Given the description of an element on the screen output the (x, y) to click on. 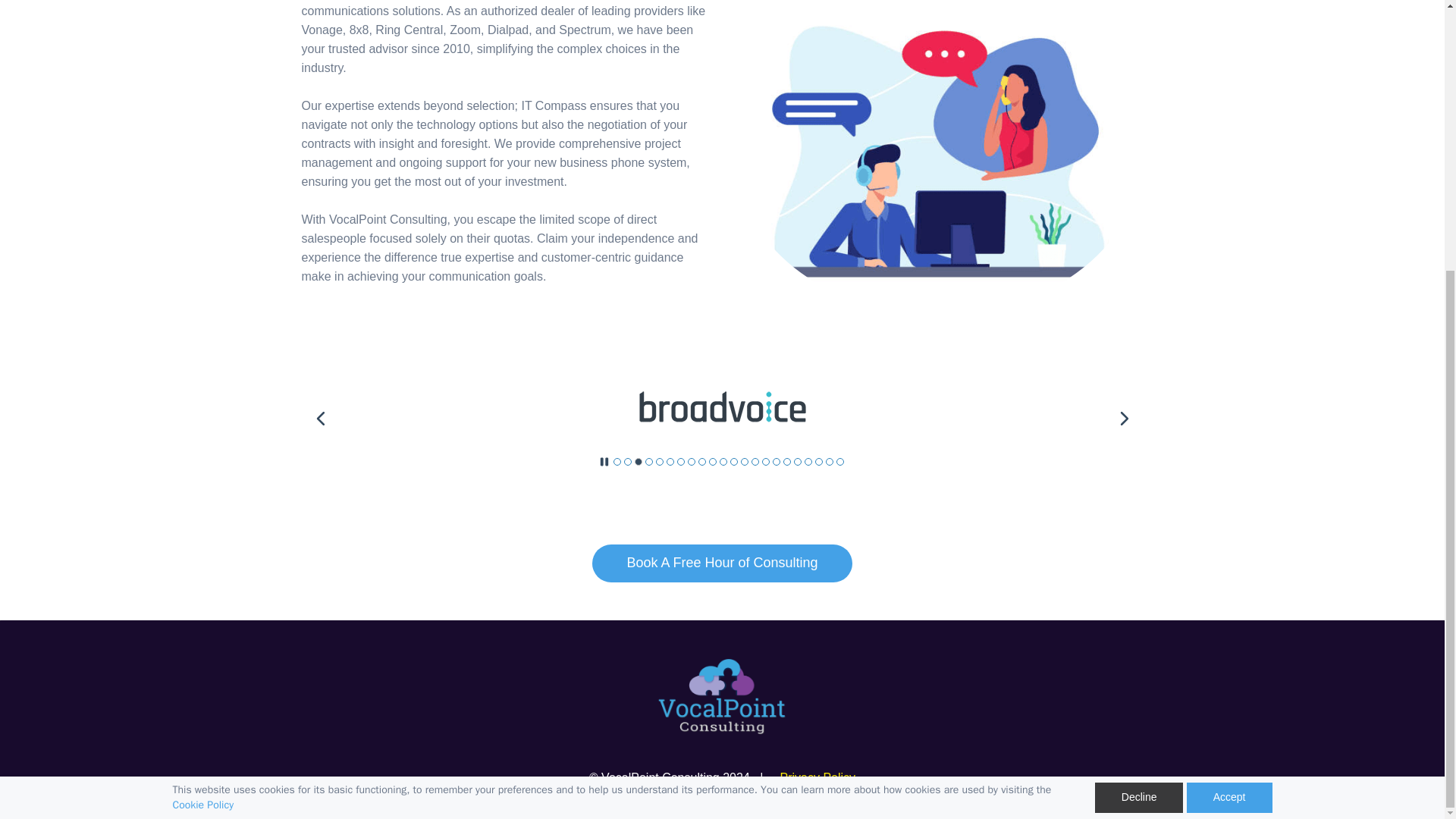
Decline (1138, 401)
Cookie Policy (203, 409)
Cookie Policy (203, 409)
Accept (1229, 401)
